Given the description of an element on the screen output the (x, y) to click on. 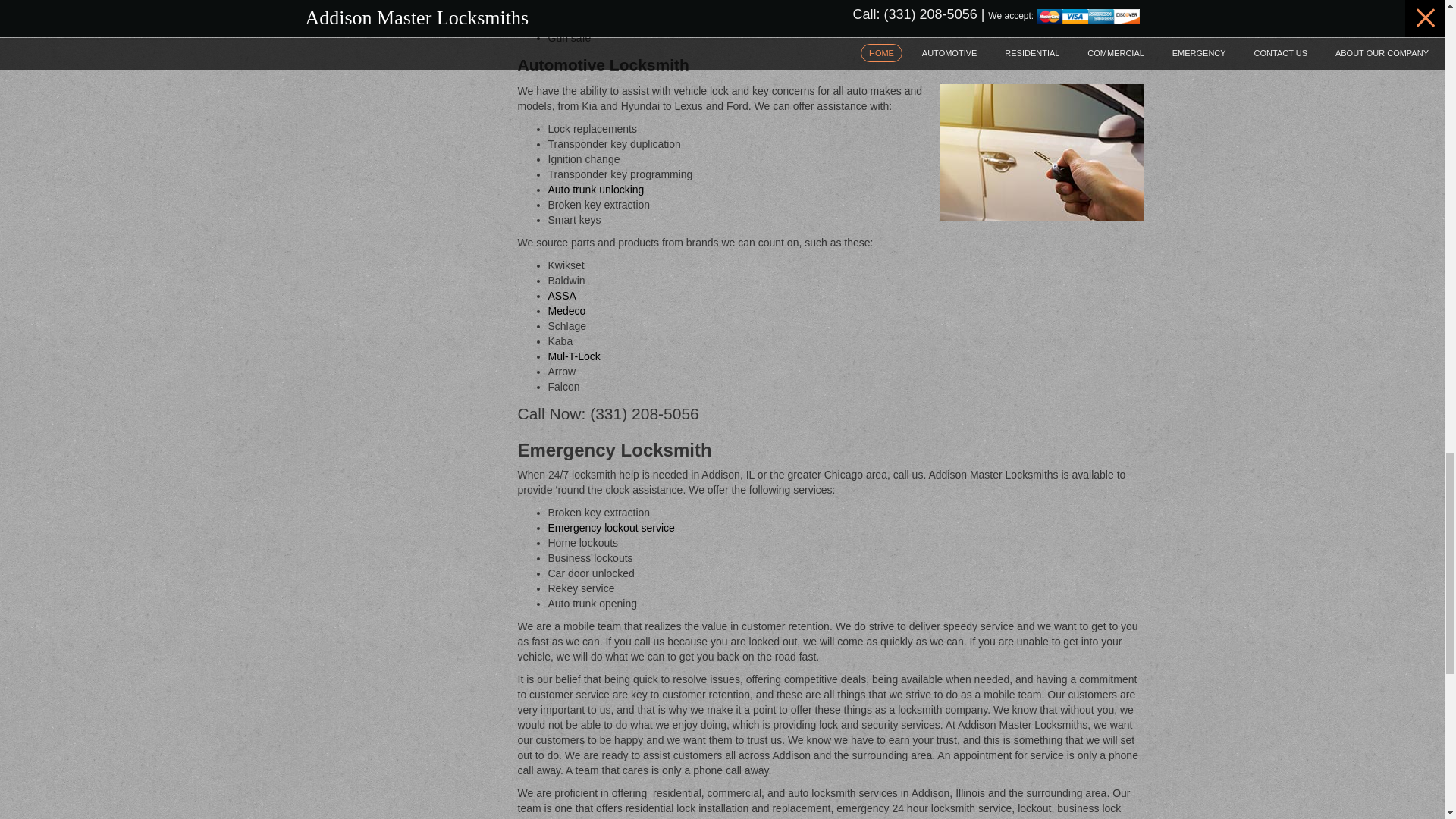
Medeco (566, 310)
Auto trunk unlocking (595, 189)
Emergency lockout service (610, 527)
Mul-T-Lock (573, 356)
ASSA (561, 295)
